Given the description of an element on the screen output the (x, y) to click on. 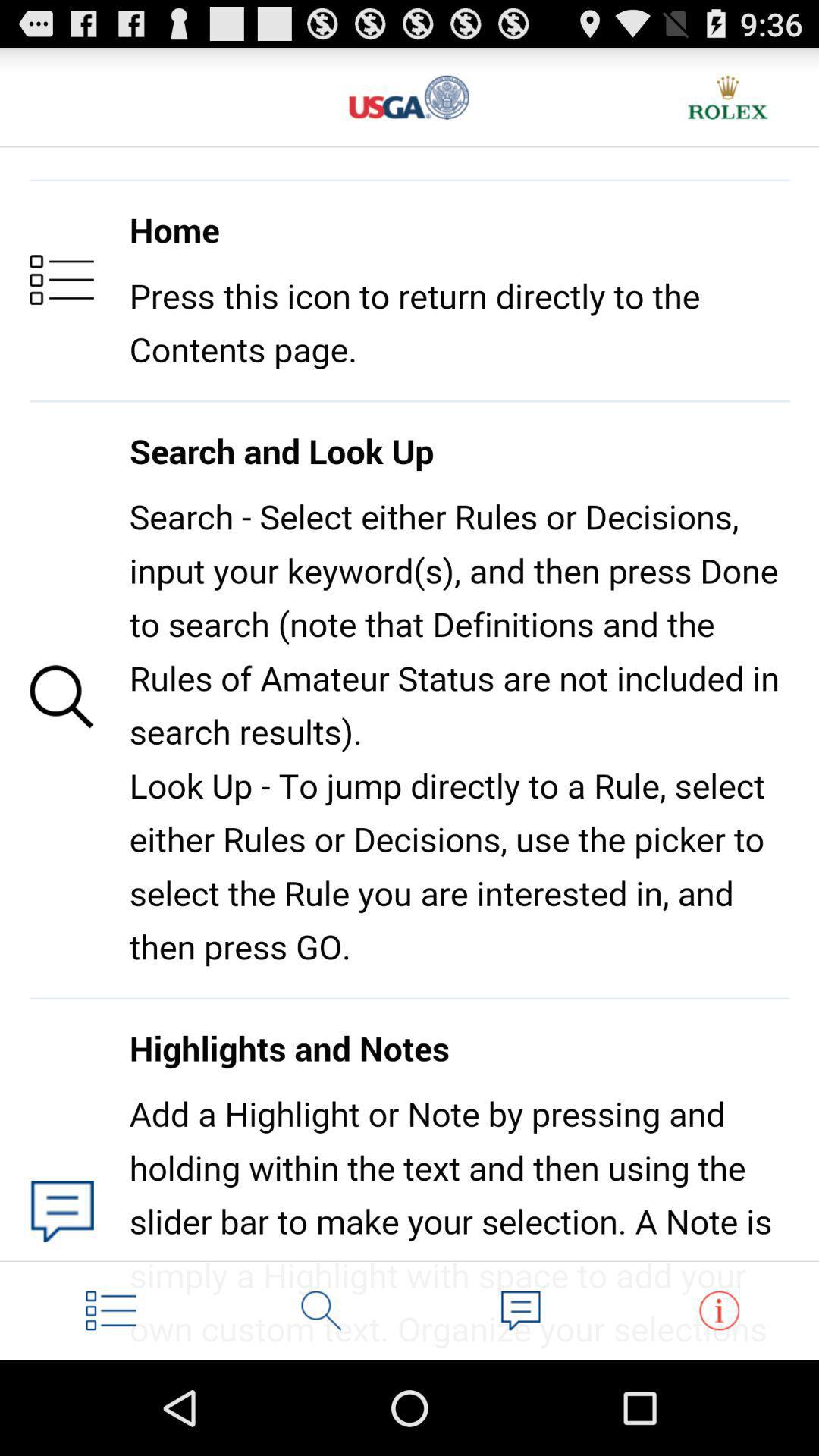
more information (719, 1310)
